Given the description of an element on the screen output the (x, y) to click on. 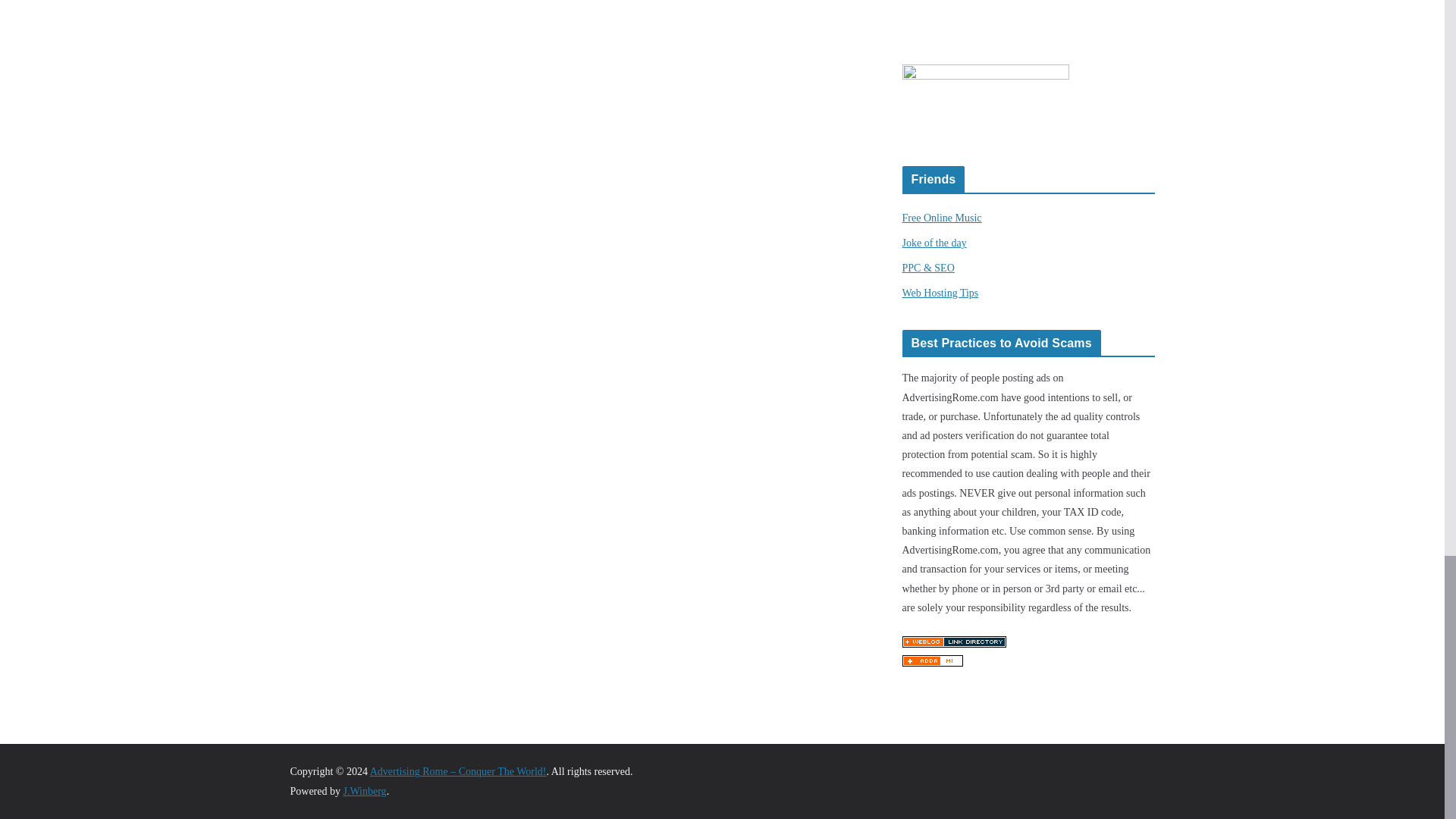
Free Online Music (941, 217)
Web Hosting Tips (940, 292)
Joke of the day (934, 242)
J.Winberg (363, 790)
